Given the description of an element on the screen output the (x, y) to click on. 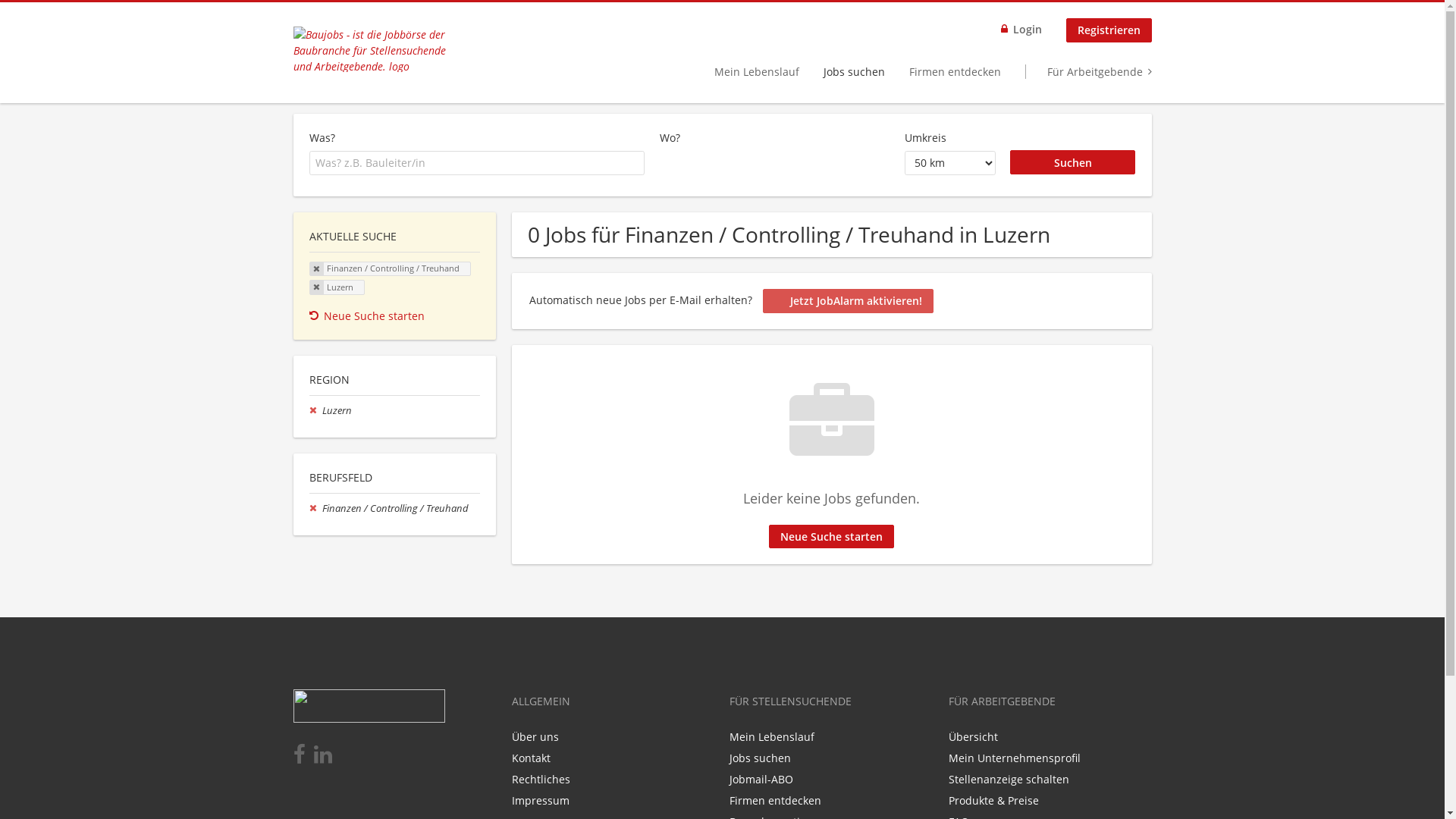
Jobs suchen Element type: text (759, 757)
Jobmail-ABO Element type: text (761, 778)
Neue Suche starten Element type: text (831, 536)
Neue Suche starten Element type: text (394, 315)
Mein Lebenslauf Element type: text (771, 736)
Produkte & Preise Element type: text (993, 800)
Kontakt Element type: text (530, 757)
Firmen entdecken Element type: text (775, 800)
Firmen entdecken Element type: text (954, 70)
Mein Lebenslauf Element type: text (756, 70)
Suchen Element type: text (1072, 162)
Login Element type: text (1021, 30)
Jetzt JobAlarm aktivieren! Element type: text (847, 300)
Jetzt aktivieren Element type: text (698, 533)
Mein Unternehmensprofil Element type: text (1014, 757)
Stellenanzeige schalten Element type: text (1008, 778)
Rechtliches Element type: text (540, 778)
Registrieren Element type: text (1108, 30)
Impressum Element type: text (539, 800)
Jobs suchen Element type: text (853, 70)
